Given the description of an element on the screen output the (x, y) to click on. 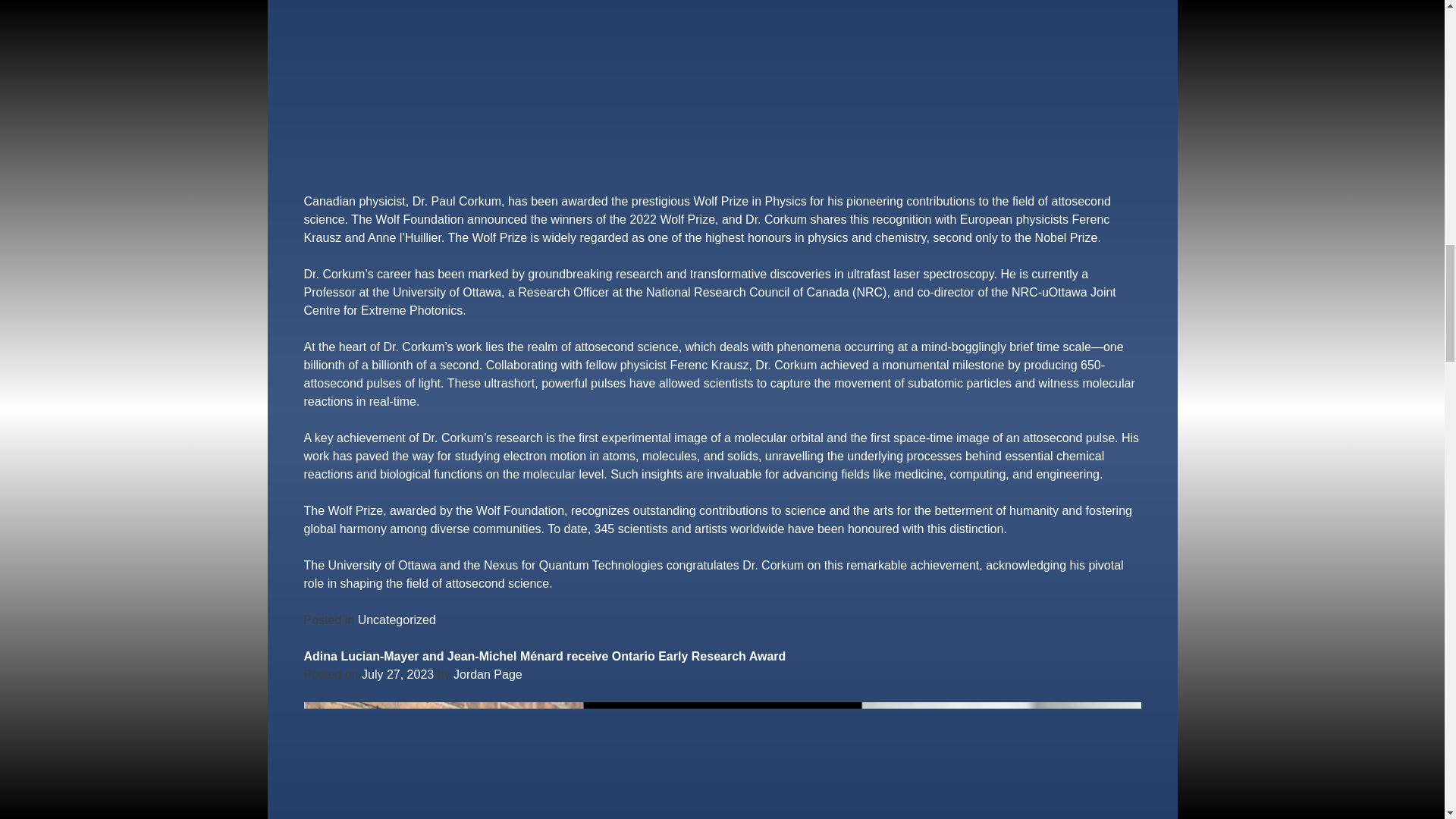
Dr. Paul Corkum (456, 201)
July 27, 2023 (397, 674)
Uncategorized (396, 619)
Jordan Page (487, 674)
